Given the description of an element on the screen output the (x, y) to click on. 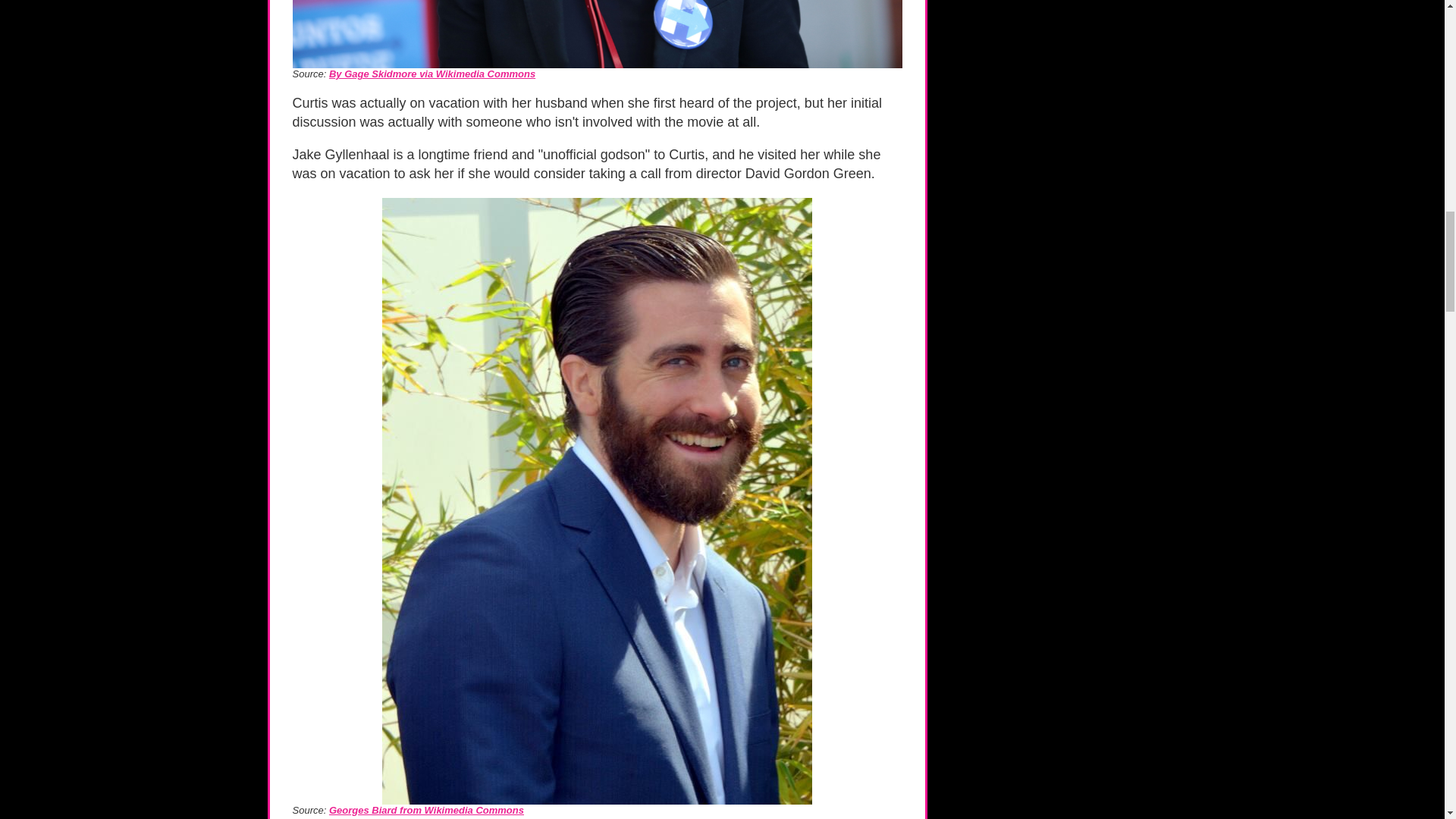
Georges Biard from Wikimedia Commons (426, 809)
By Gage Skidmore via Wikimedia Commons (432, 73)
Jamie Lee Curtis (597, 33)
